Given the description of an element on the screen output the (x, y) to click on. 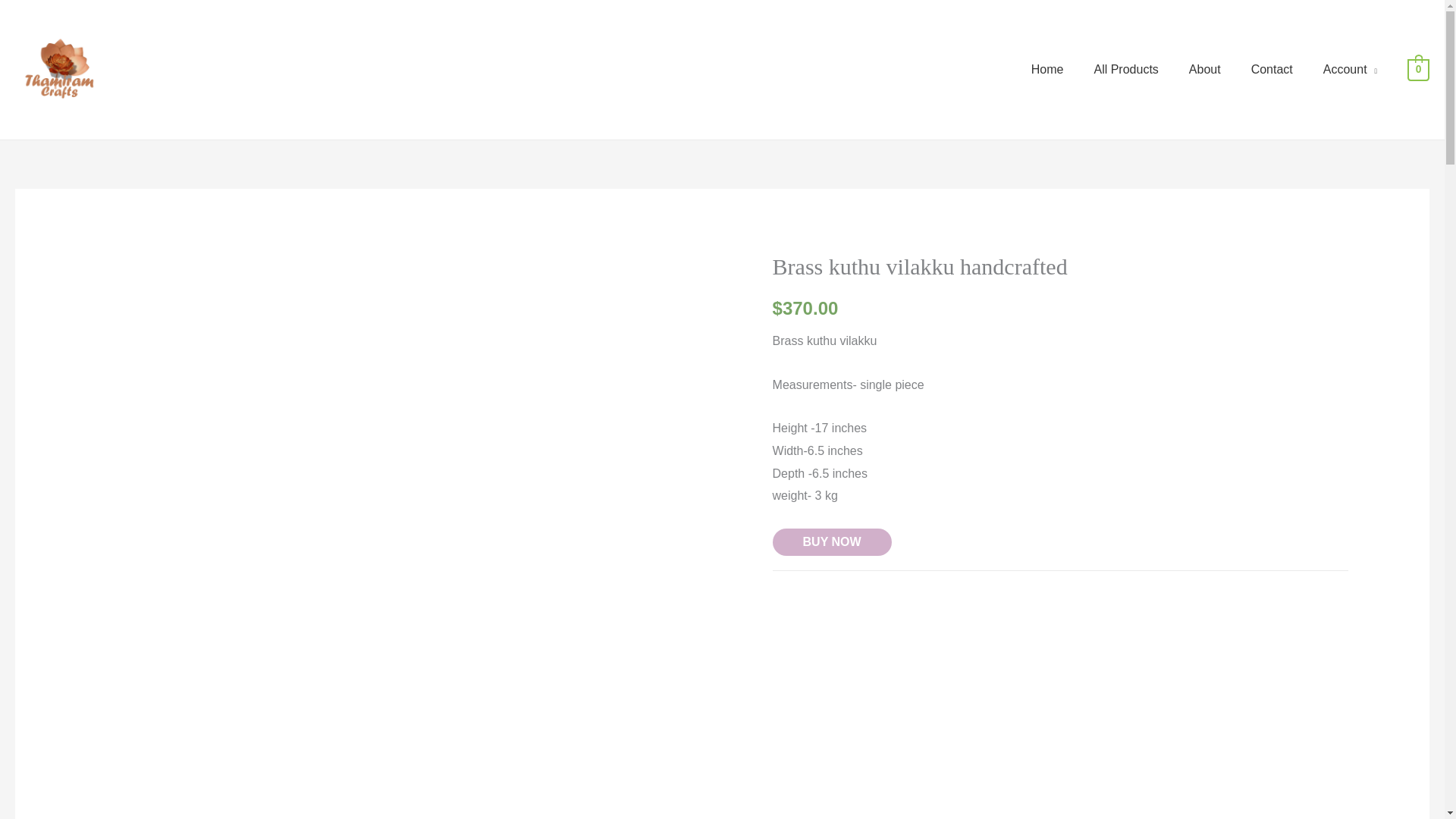
About (1204, 69)
Account (1349, 69)
View your shopping cart (1418, 69)
0 (1418, 69)
All Products (1125, 69)
Contact (1271, 69)
Home (1047, 69)
BUY NOW (832, 542)
